Given the description of an element on the screen output the (x, y) to click on. 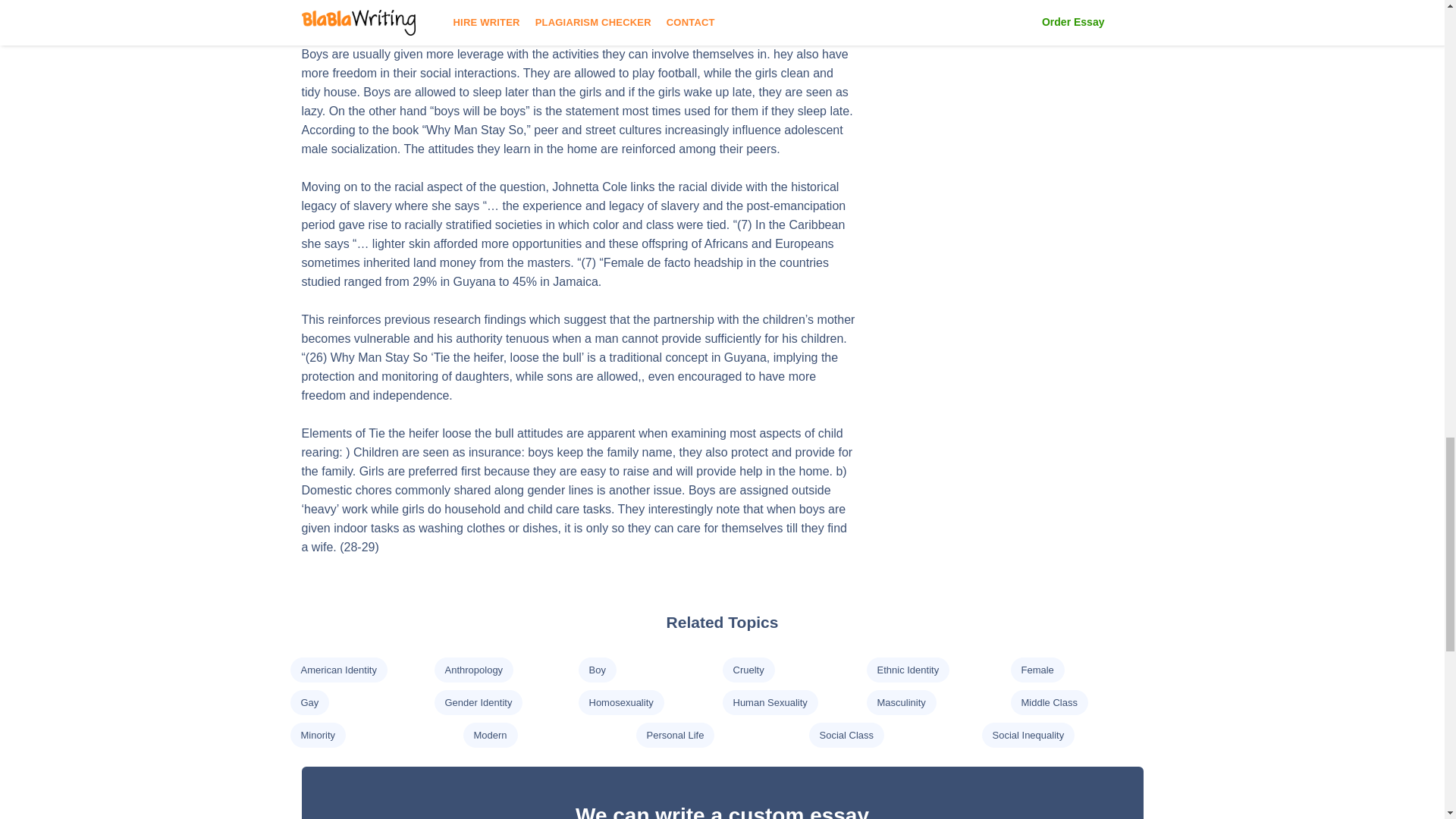
Boy (596, 669)
Female (1036, 669)
Ethnic Identity (907, 669)
Gay (308, 702)
Gender Identity (478, 702)
Cruelty (747, 669)
Anthropology (473, 669)
American Identity (337, 669)
